Given the description of an element on the screen output the (x, y) to click on. 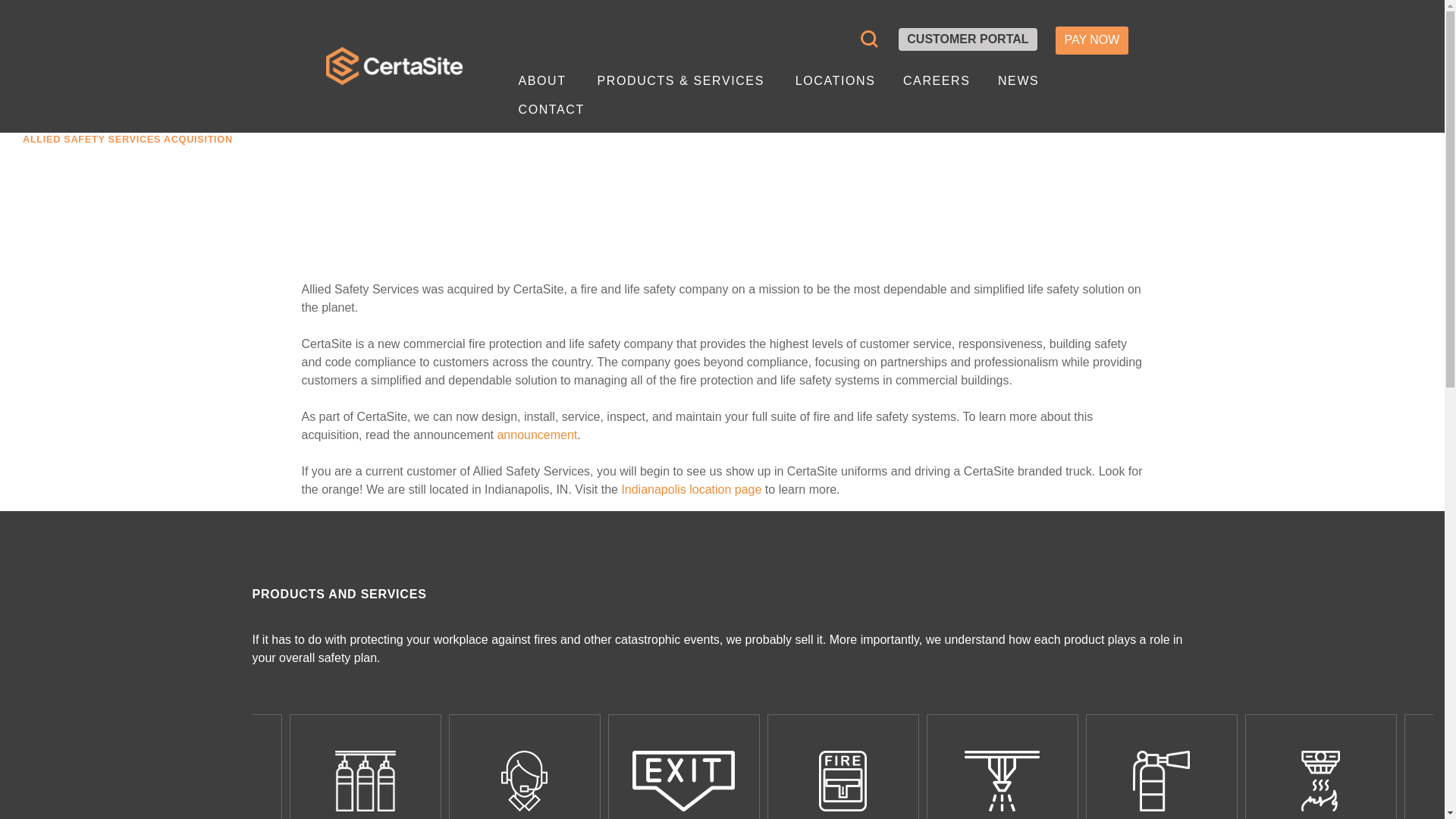
CONTACT (551, 110)
PAY NOW (1090, 40)
CAREERS (936, 80)
announcement (536, 434)
CUSTOMER PORTAL (967, 38)
LOCATIONS (835, 80)
ABOUT (542, 80)
